Given the description of an element on the screen output the (x, y) to click on. 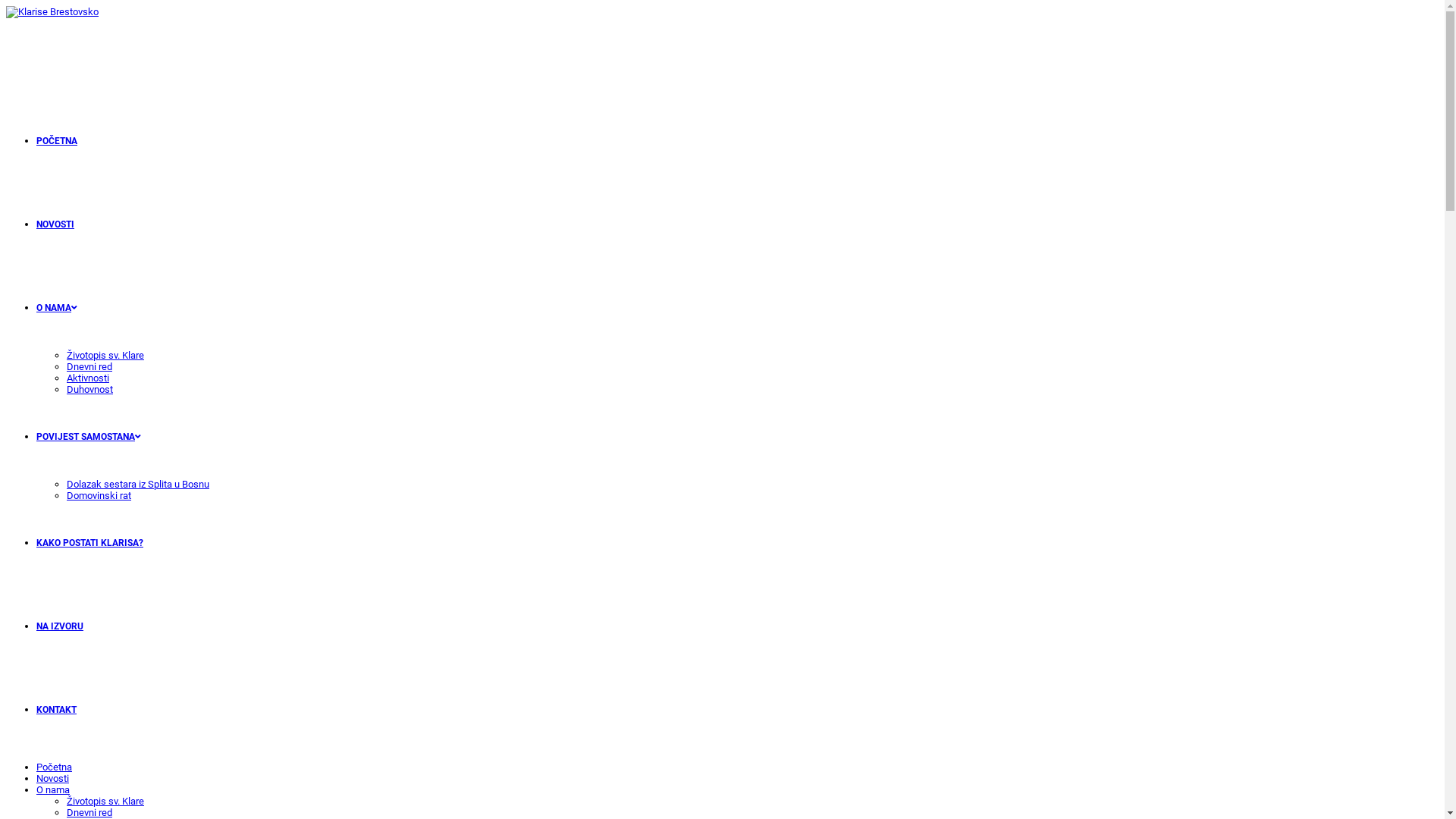
O nama Element type: text (52, 789)
Dolazak sestara iz Splita u Bosnu Element type: text (137, 483)
Novosti Element type: text (52, 778)
Dnevni red Element type: text (89, 812)
NOVOSTI Element type: text (55, 224)
POVIJEST SAMOSTANA Element type: text (88, 436)
KAKO POSTATI KLARISA? Element type: text (89, 542)
Dnevni red Element type: text (89, 366)
Duhovnost Element type: text (89, 389)
O NAMA Element type: text (56, 307)
NA IZVORU Element type: text (59, 626)
KONTAKT Element type: text (56, 709)
Aktivnosti Element type: text (87, 377)
Domovinski rat Element type: text (98, 495)
